Given the description of an element on the screen output the (x, y) to click on. 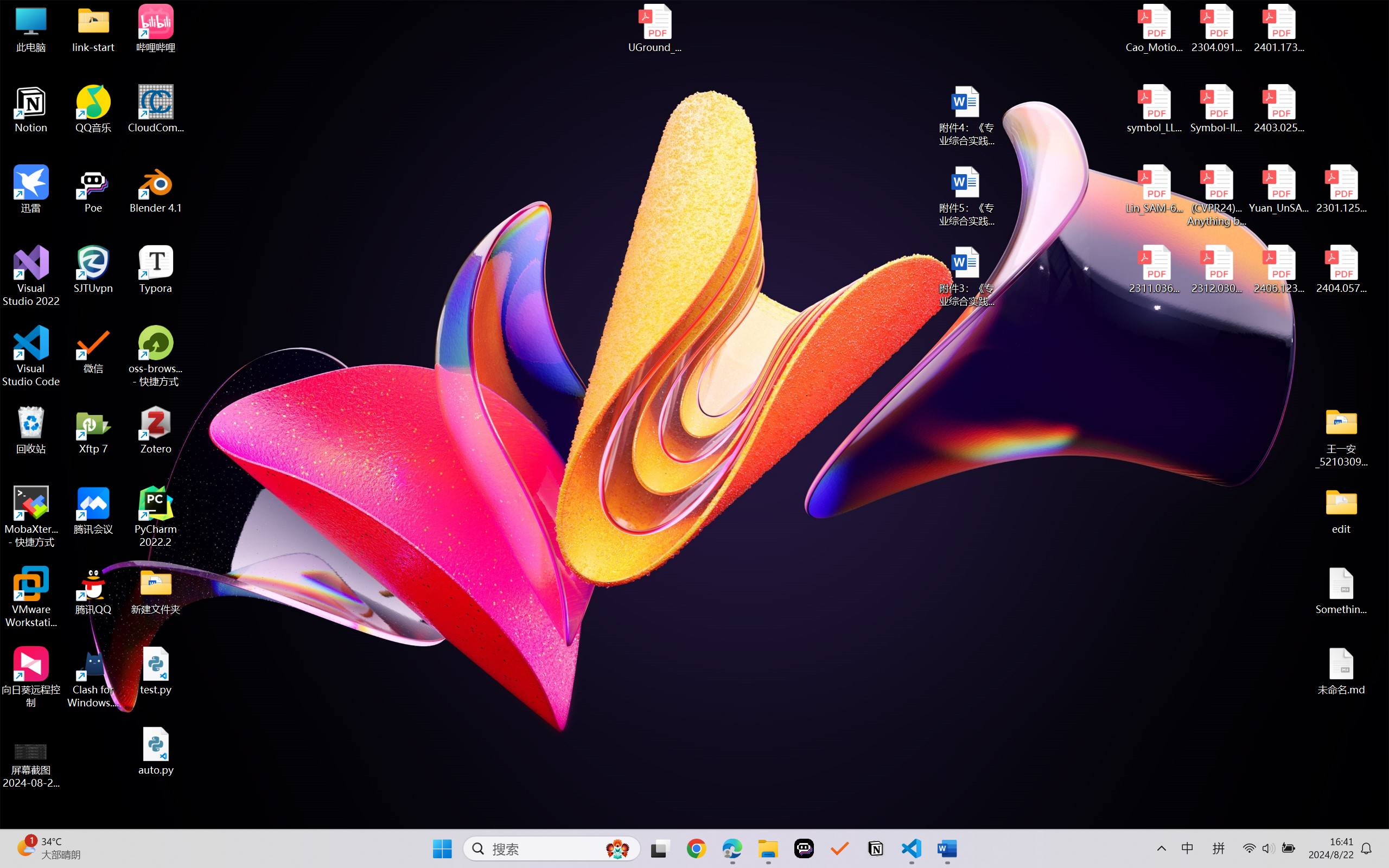
Notion (31, 109)
2312.03032v2.pdf (1216, 269)
2401.17399v1.pdf (1278, 28)
2304.09121v3.pdf (1216, 28)
2406.12373v2.pdf (1278, 269)
